Given the description of an element on the screen output the (x, y) to click on. 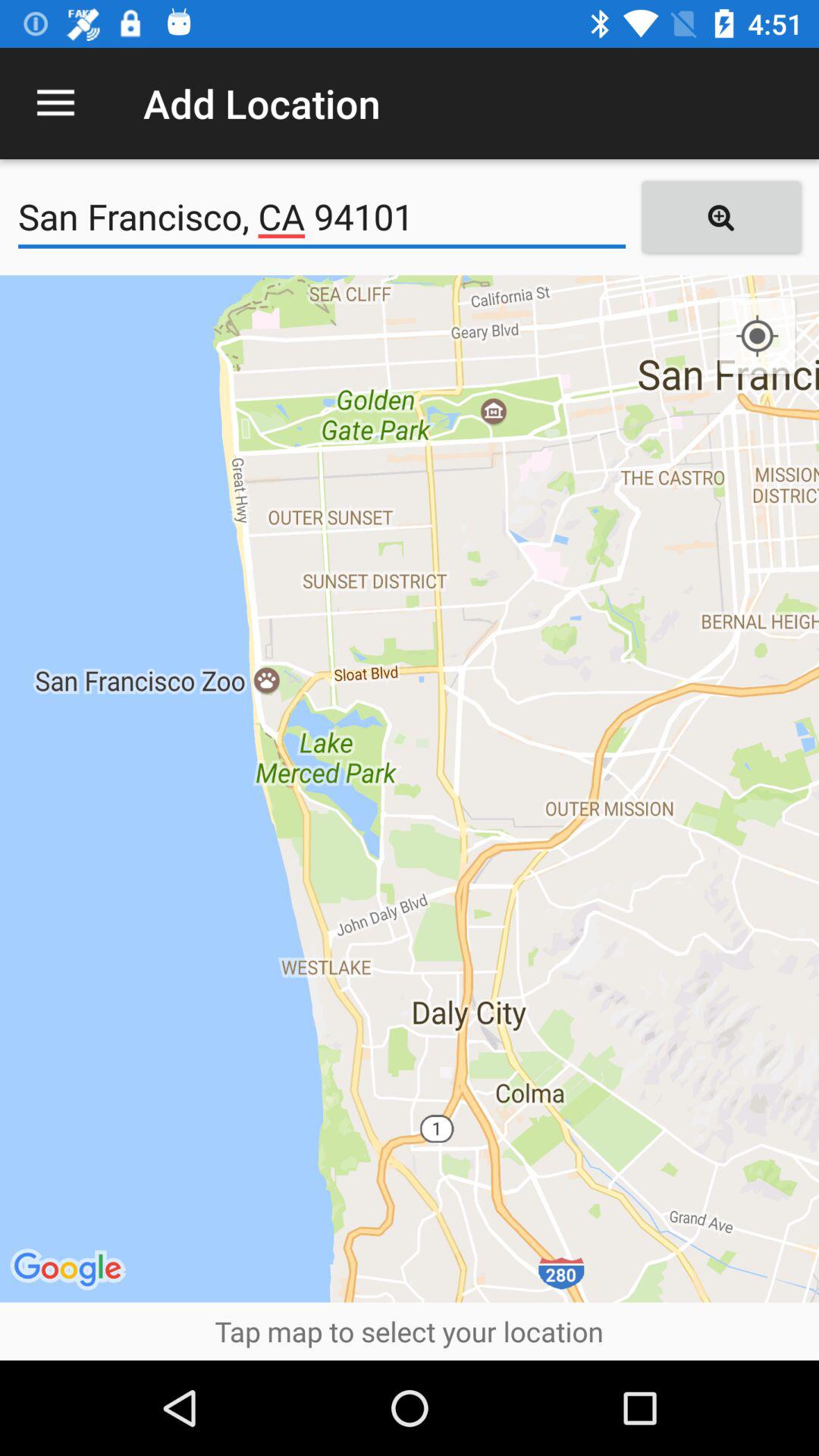
choose icon next to san francisco ca item (720, 217)
